Given the description of an element on the screen output the (x, y) to click on. 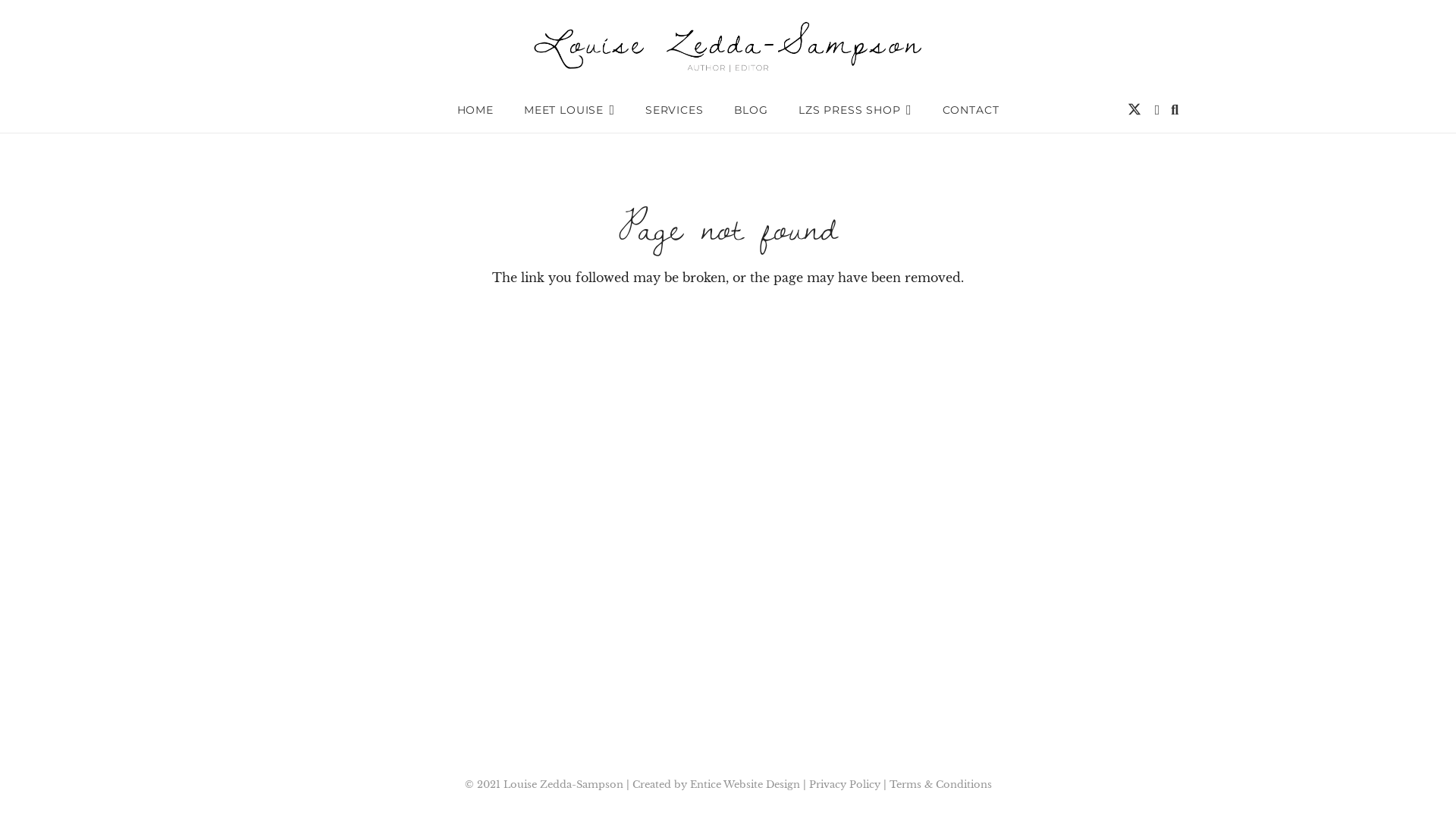
HOME Element type: text (475, 109)
Privacy Policy Element type: text (843, 784)
SERVICES Element type: text (674, 109)
Terms & Conditions Element type: text (939, 784)
Facebook Element type: hover (1157, 109)
CONTACT Element type: text (970, 109)
MEET LOUISE Element type: text (569, 109)
BLOG Element type: text (750, 109)
Twitter Element type: hover (1134, 109)
LZS PRESS SHOP Element type: text (855, 109)
